Given the description of an element on the screen output the (x, y) to click on. 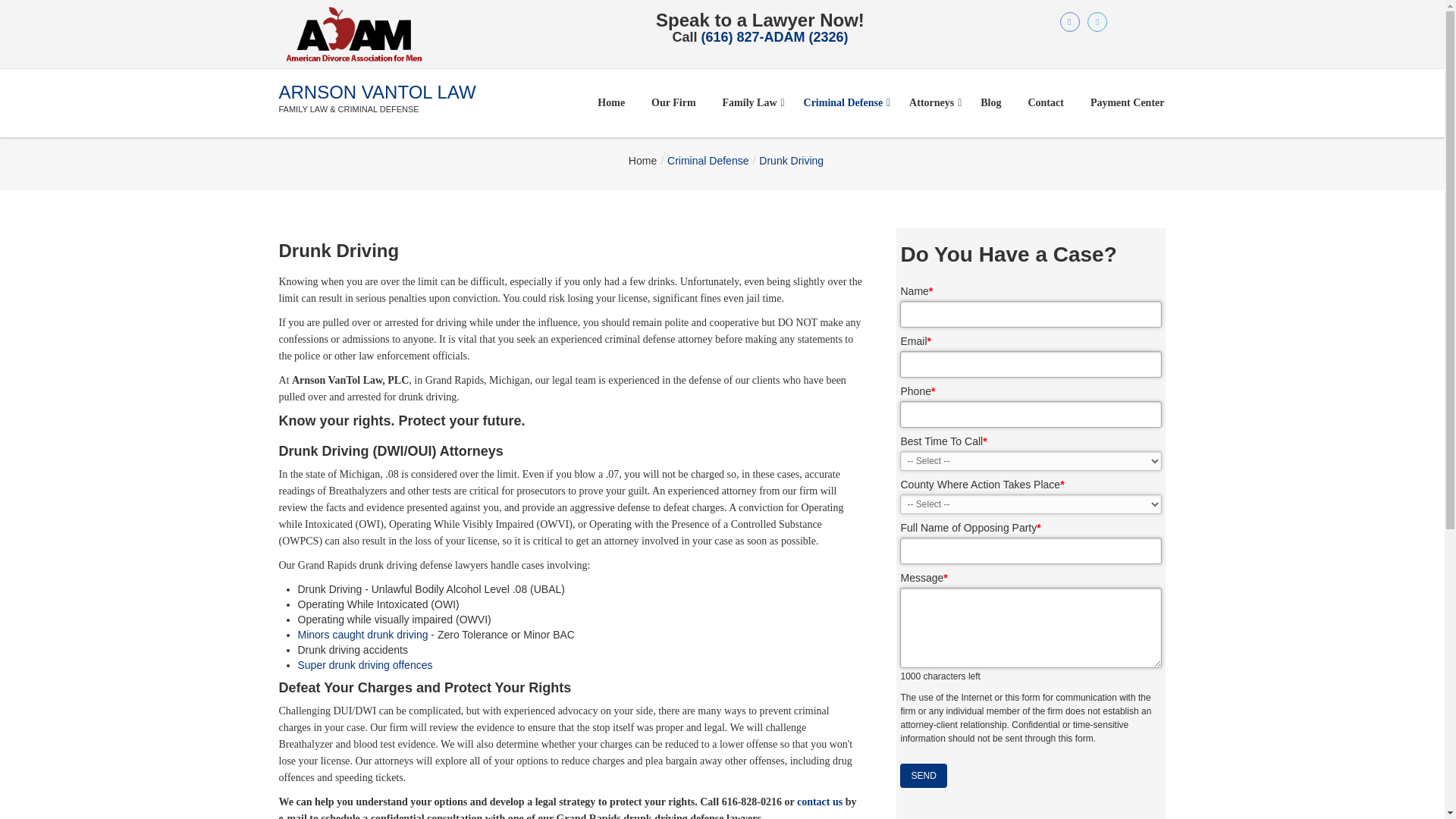
Our Firm (673, 102)
Family Law (750, 102)
ARNSON VANTOL LAW (377, 91)
Home (611, 102)
Criminal Defense (843, 102)
Attorneys (931, 102)
